Given the description of an element on the screen output the (x, y) to click on. 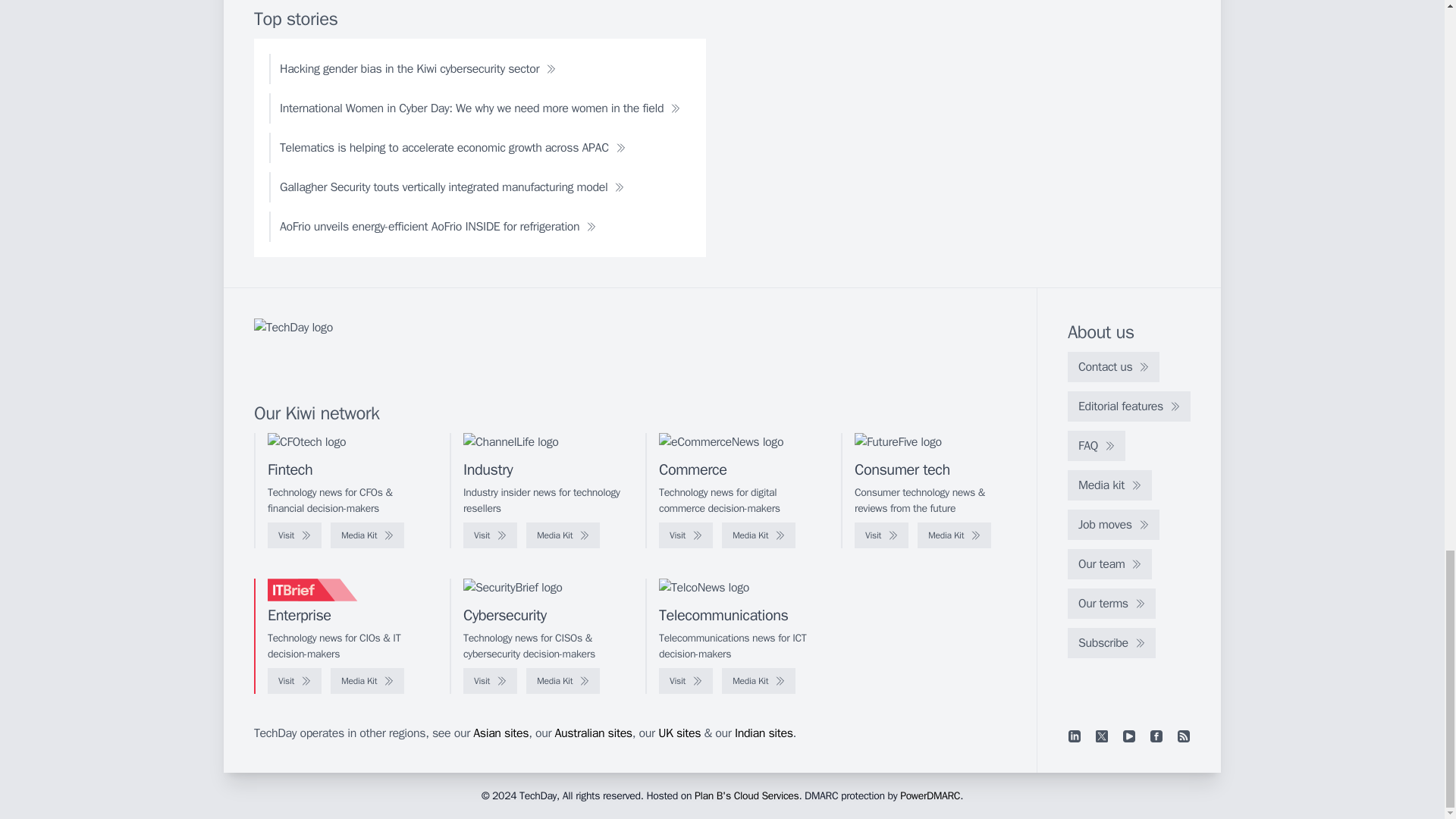
Hacking gender bias in the Kiwi cybersecurity sector (417, 69)
Visit (686, 534)
Media Kit (367, 534)
Visit (881, 534)
Visit (489, 534)
Media Kit (954, 534)
Visit (294, 534)
